Given the description of an element on the screen output the (x, y) to click on. 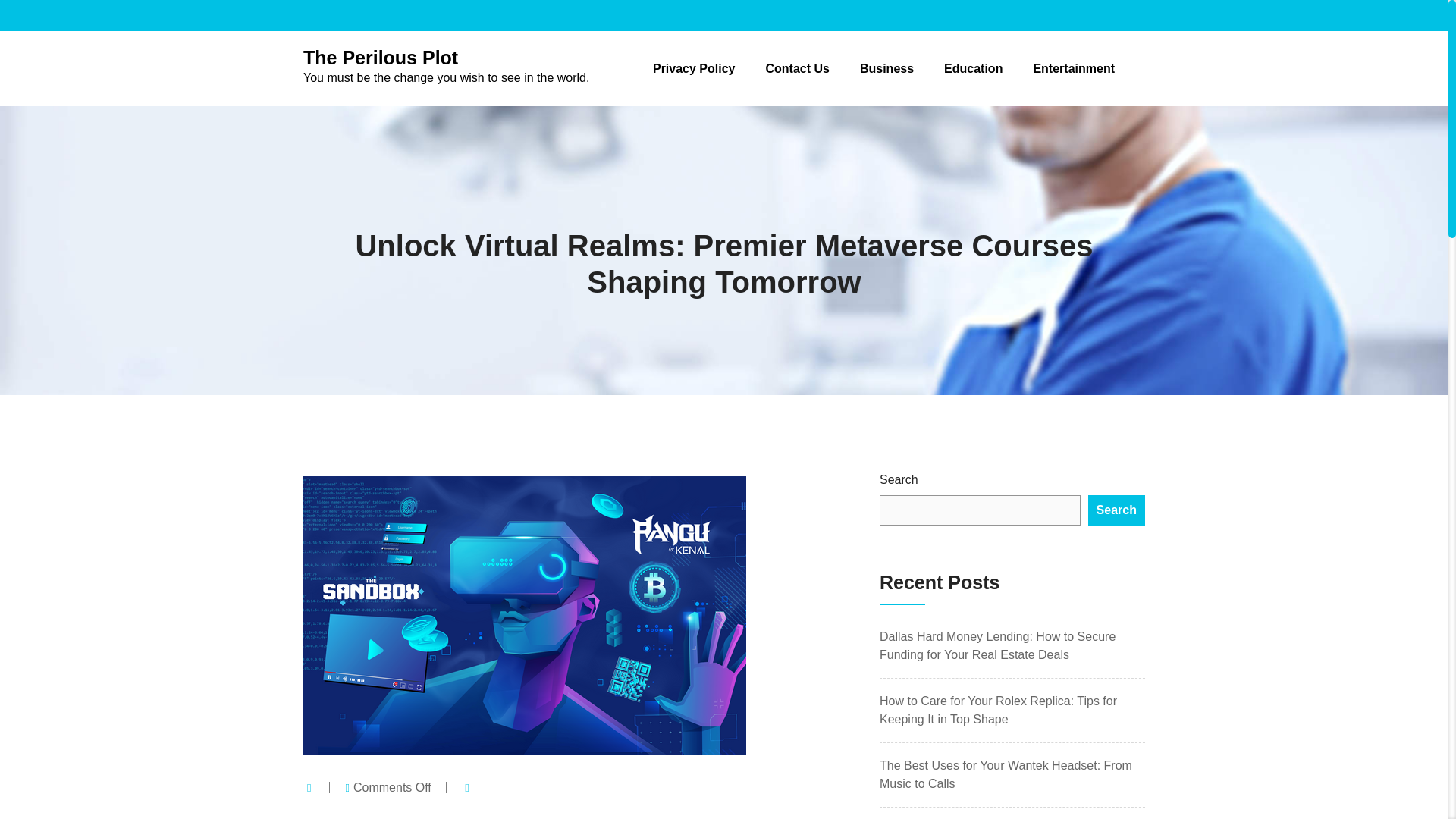
The Best Uses for Your Wantek Headset: From Music to Calls (1005, 774)
Business (887, 68)
Privacy Policy (693, 68)
Entertainment (1073, 68)
Contact Us (796, 68)
Education (973, 68)
Search (1115, 510)
